Given the description of an element on the screen output the (x, y) to click on. 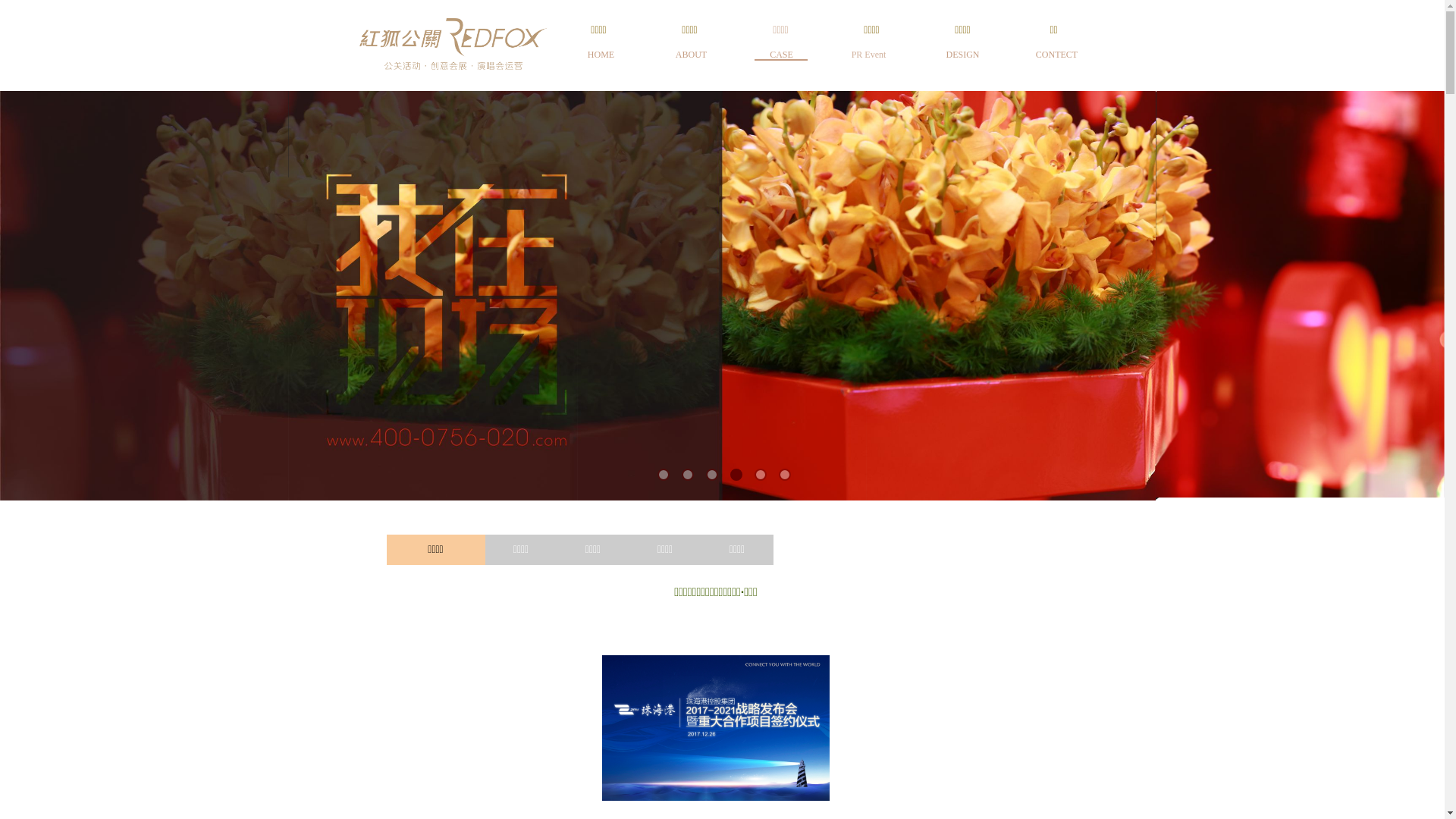
PR Event Element type: text (868, 54)
CONTECT Element type: text (1057, 54)
HOME Element type: text (600, 54)
DESIGN Element type: text (963, 54)
CASE Element type: text (781, 54)
ABOUT Element type: text (691, 54)
